Given the description of an element on the screen output the (x, y) to click on. 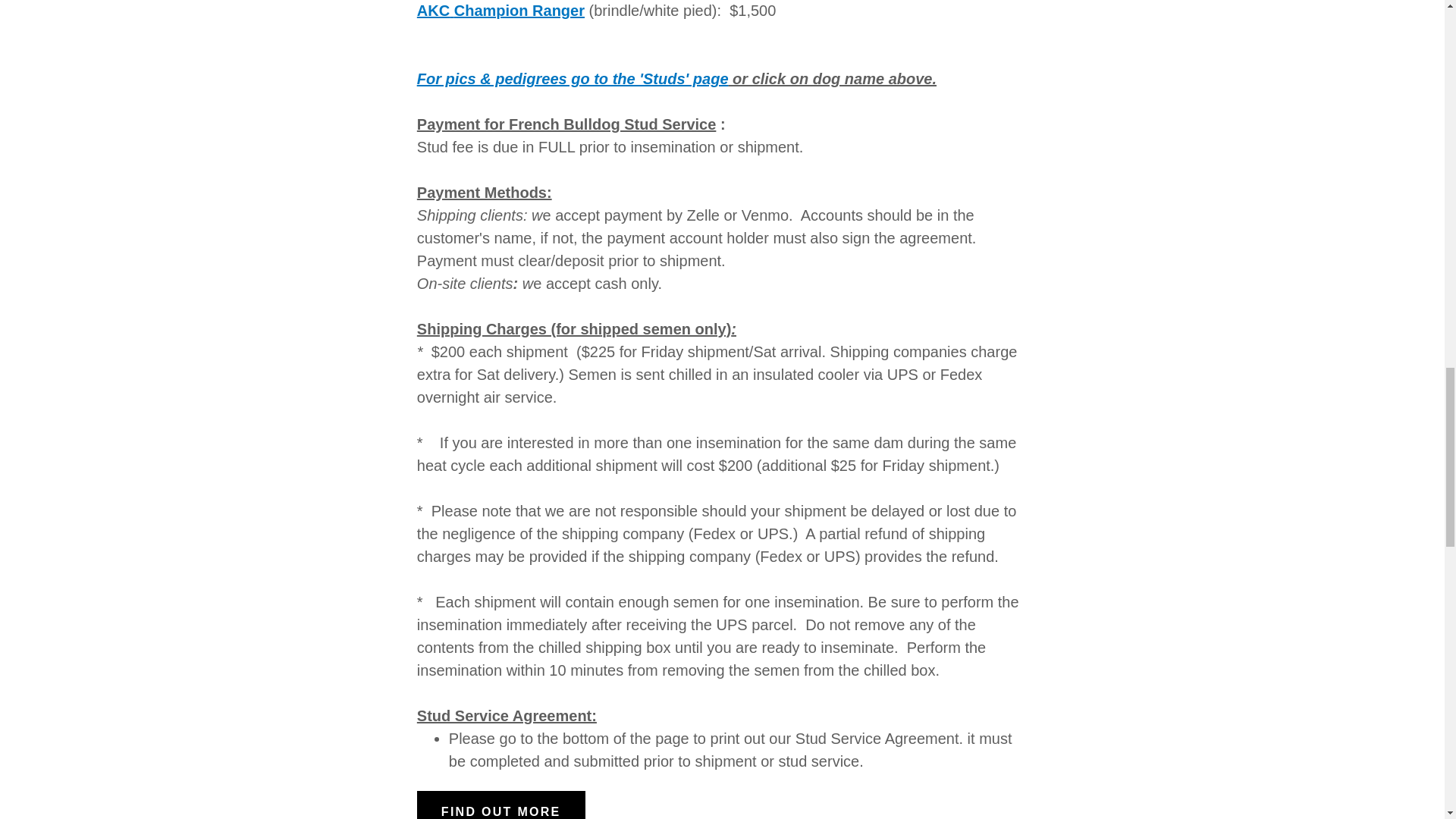
FIND OUT MORE (500, 805)
AKC Champion Ranger (500, 10)
